Given the description of an element on the screen output the (x, y) to click on. 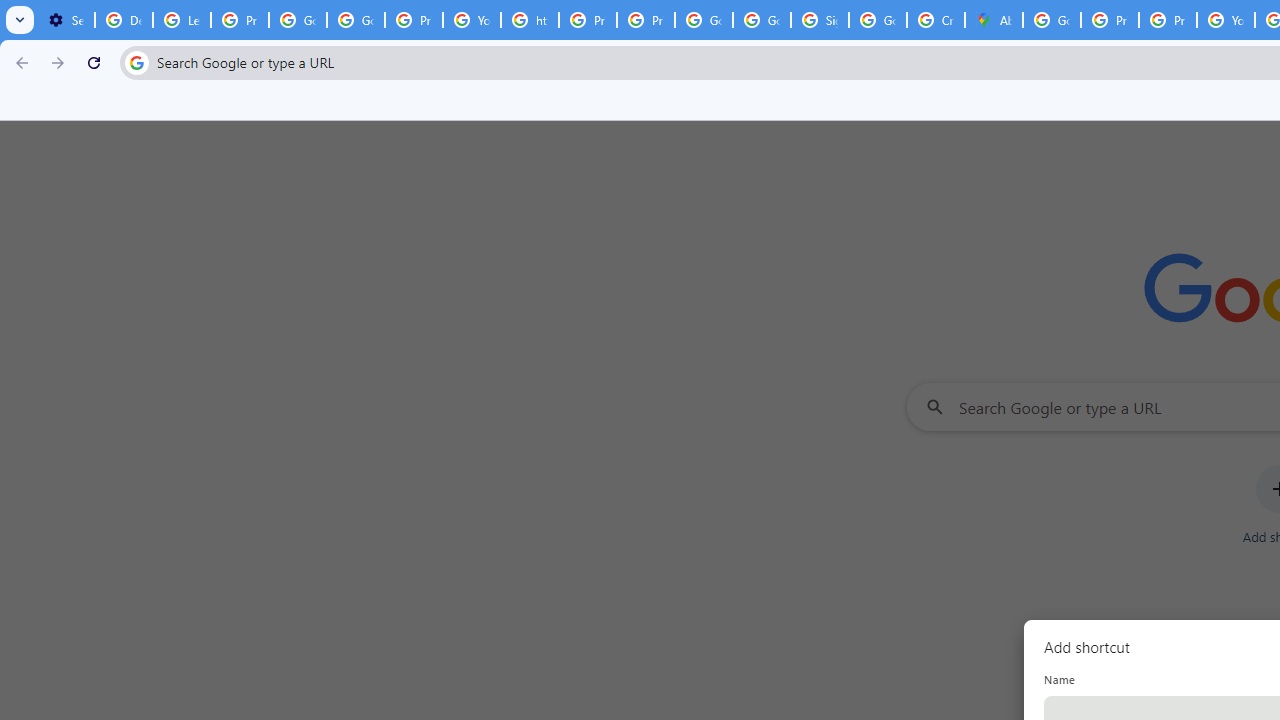
YouTube (471, 20)
Google Account Help (297, 20)
Privacy Help Center - Policies Help (1167, 20)
Create your Google Account (936, 20)
